Given the description of an element on the screen output the (x, y) to click on. 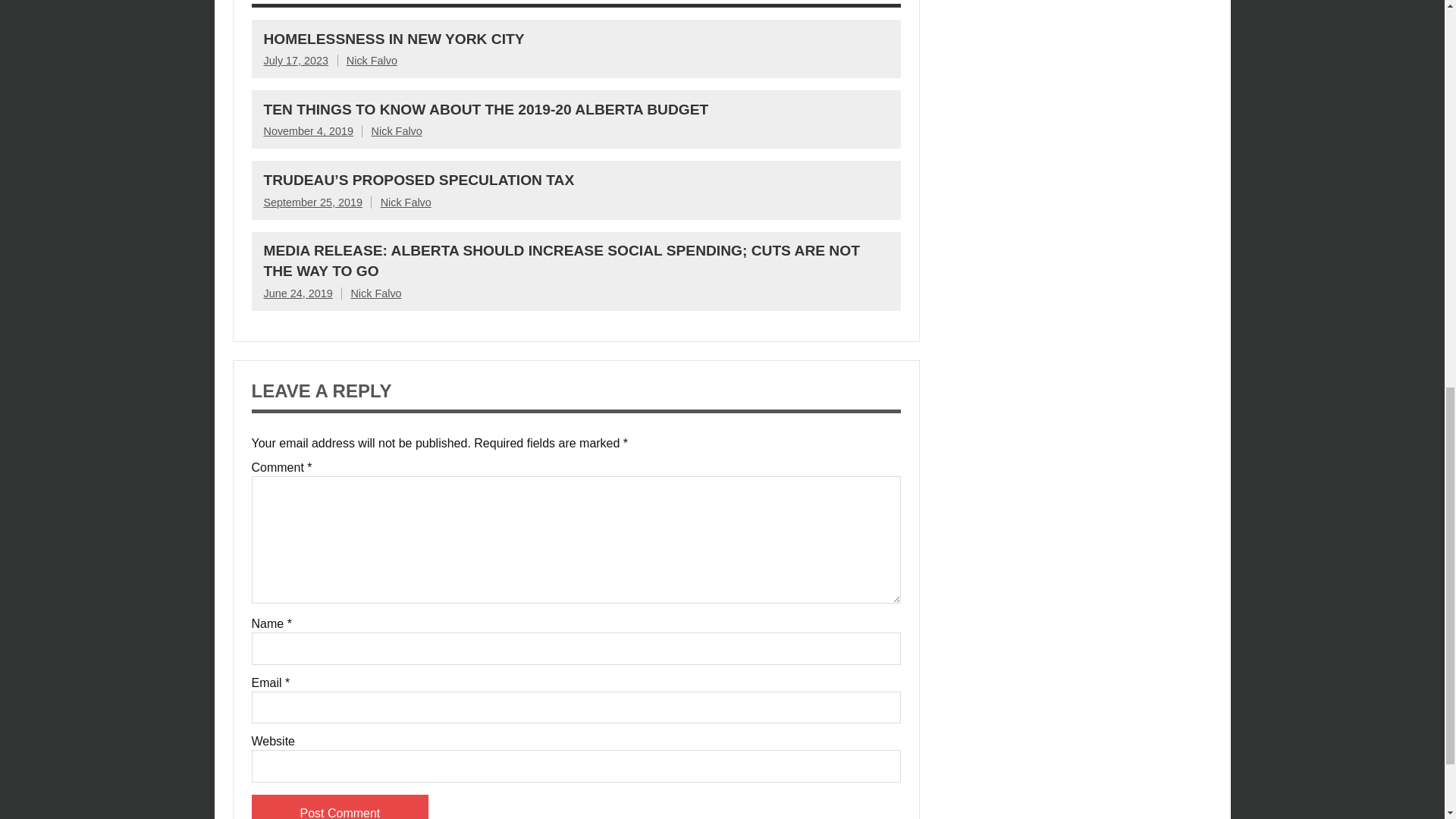
View all posts by Nick Falvo (396, 131)
View all posts by Nick Falvo (371, 60)
TEN THINGS TO KNOW ABOUT THE 2019-20 ALBERTA BUDGET (486, 109)
9:27 am (308, 131)
Post Comment (340, 806)
3:23 pm (296, 60)
November 4, 2019 (308, 131)
9:03 am (298, 293)
View all posts by Nick Falvo (405, 202)
View all posts by Nick Falvo (375, 293)
